Given the description of an element on the screen output the (x, y) to click on. 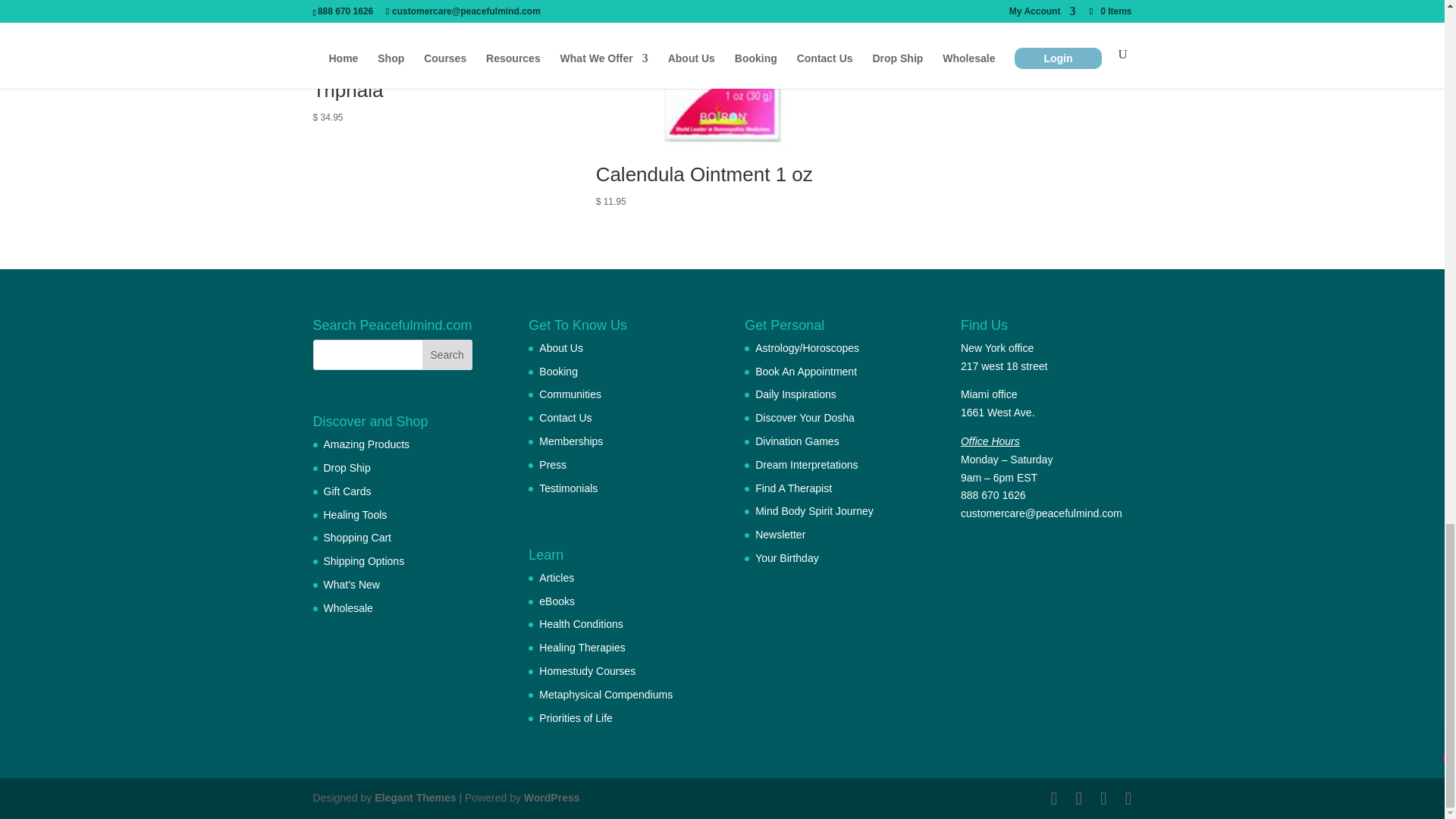
Premium WordPress Themes (414, 797)
Search (446, 354)
